Given the description of an element on the screen output the (x, y) to click on. 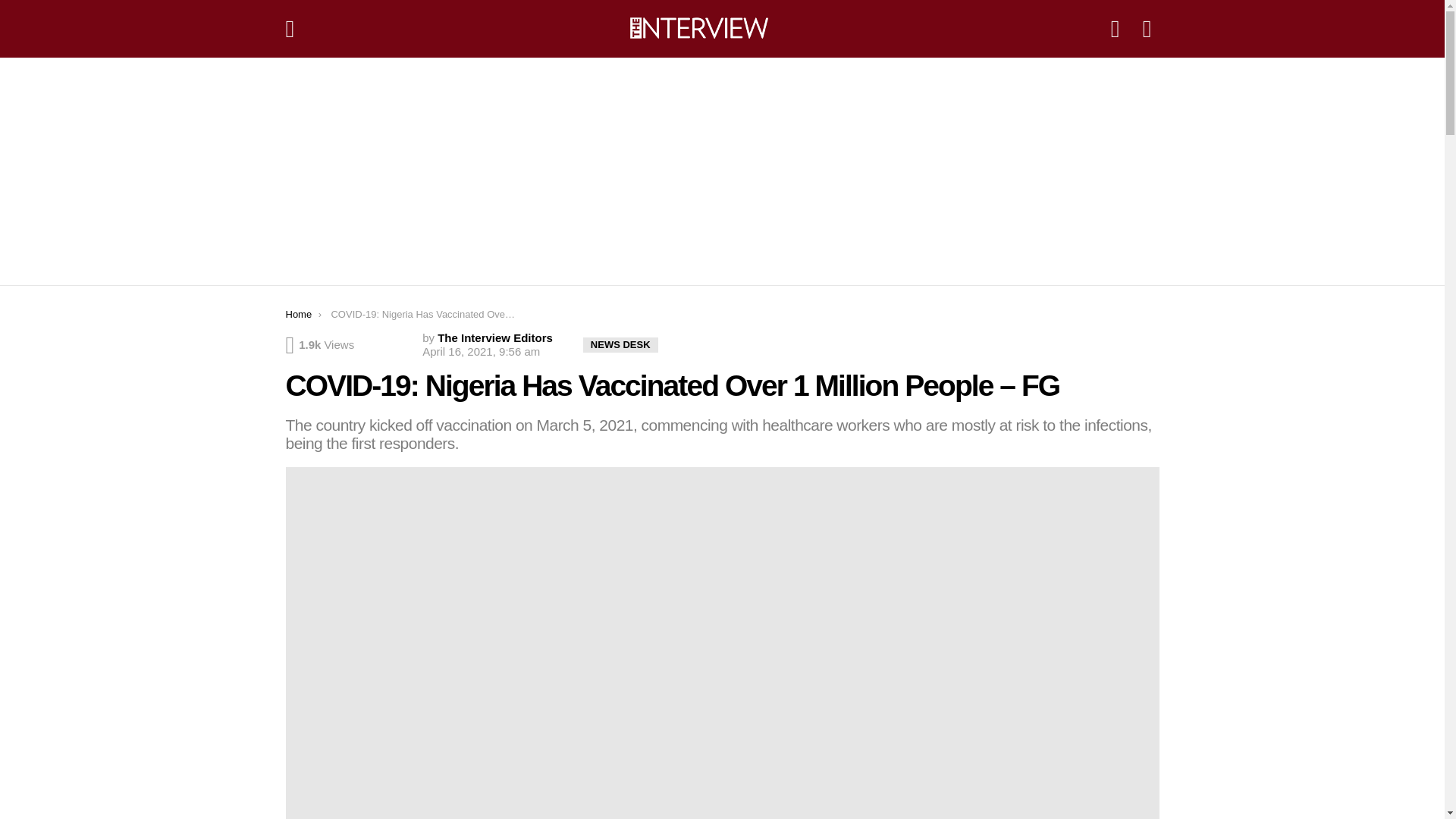
Home (298, 314)
NEWS DESK (620, 344)
The Interview Editors (495, 337)
Posts by The Interview Editors (495, 337)
